Given the description of an element on the screen output the (x, y) to click on. 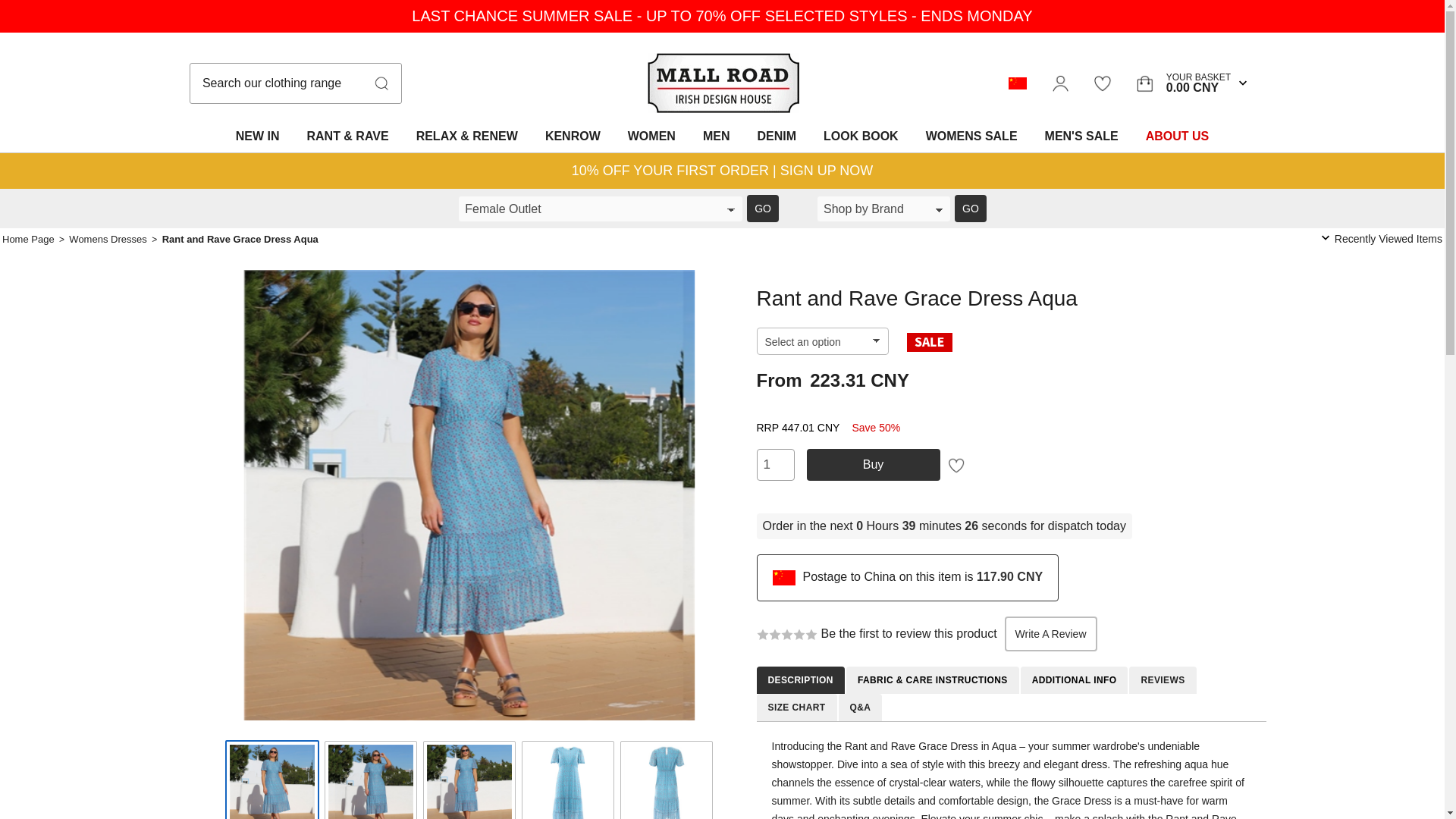
Account login (1059, 83)
Click to view your recently viewed items (1388, 237)
1 (775, 464)
Country Settings (1017, 82)
WOMEN (1182, 83)
GO (651, 136)
KENROW (971, 207)
NEW IN (572, 136)
Wishlist (258, 136)
